Given the description of an element on the screen output the (x, y) to click on. 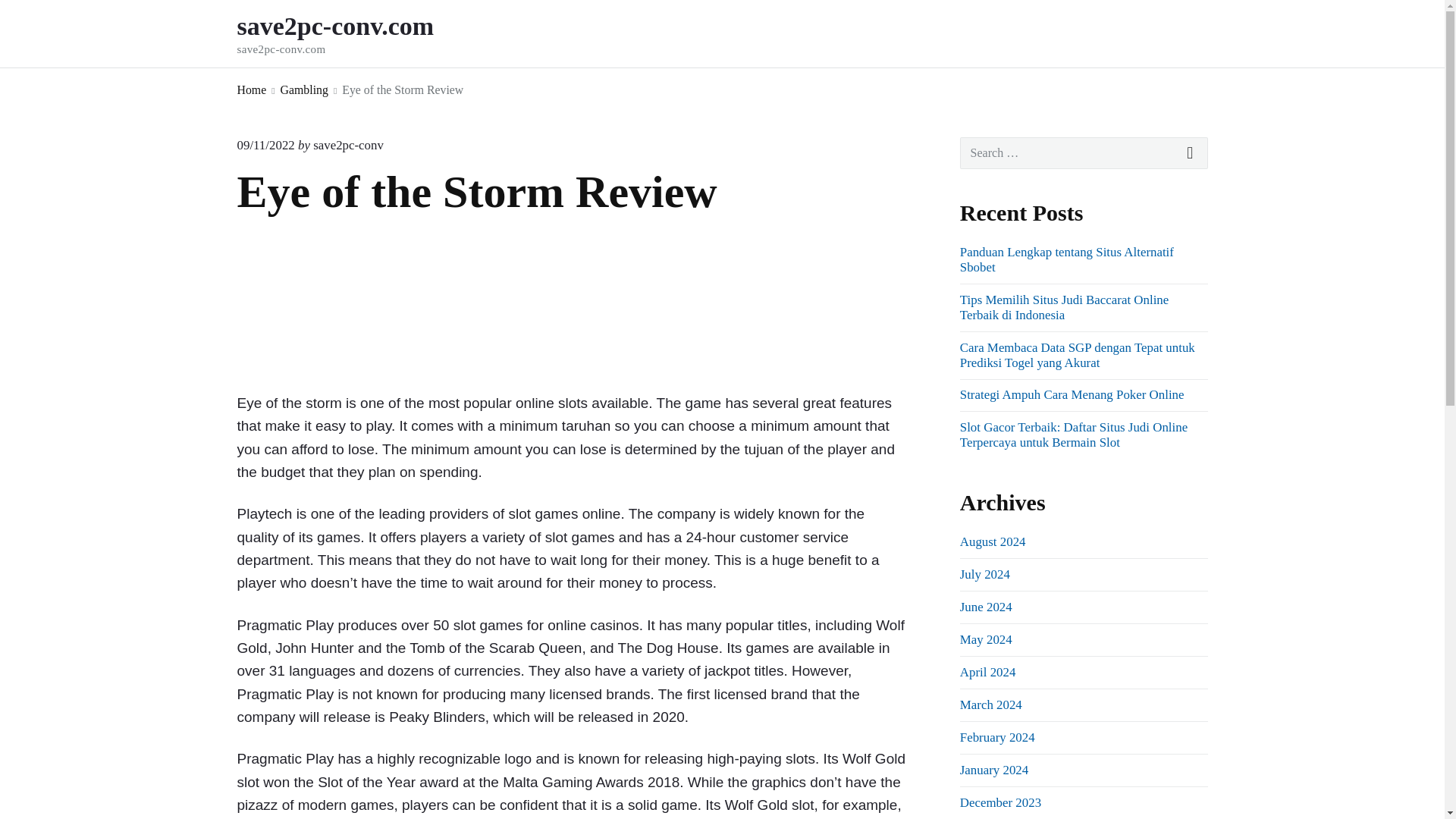
Tips Memilih Situs Judi Baccarat Online Terbaik di Indonesia (1064, 307)
Wednesday, November 9, 2022, 8:40 am (355, 33)
August 2024 (264, 145)
February 2024 (992, 541)
July 2024 (997, 737)
April 2024 (984, 574)
save2pc-conv (987, 672)
Home (348, 145)
